Given the description of an element on the screen output the (x, y) to click on. 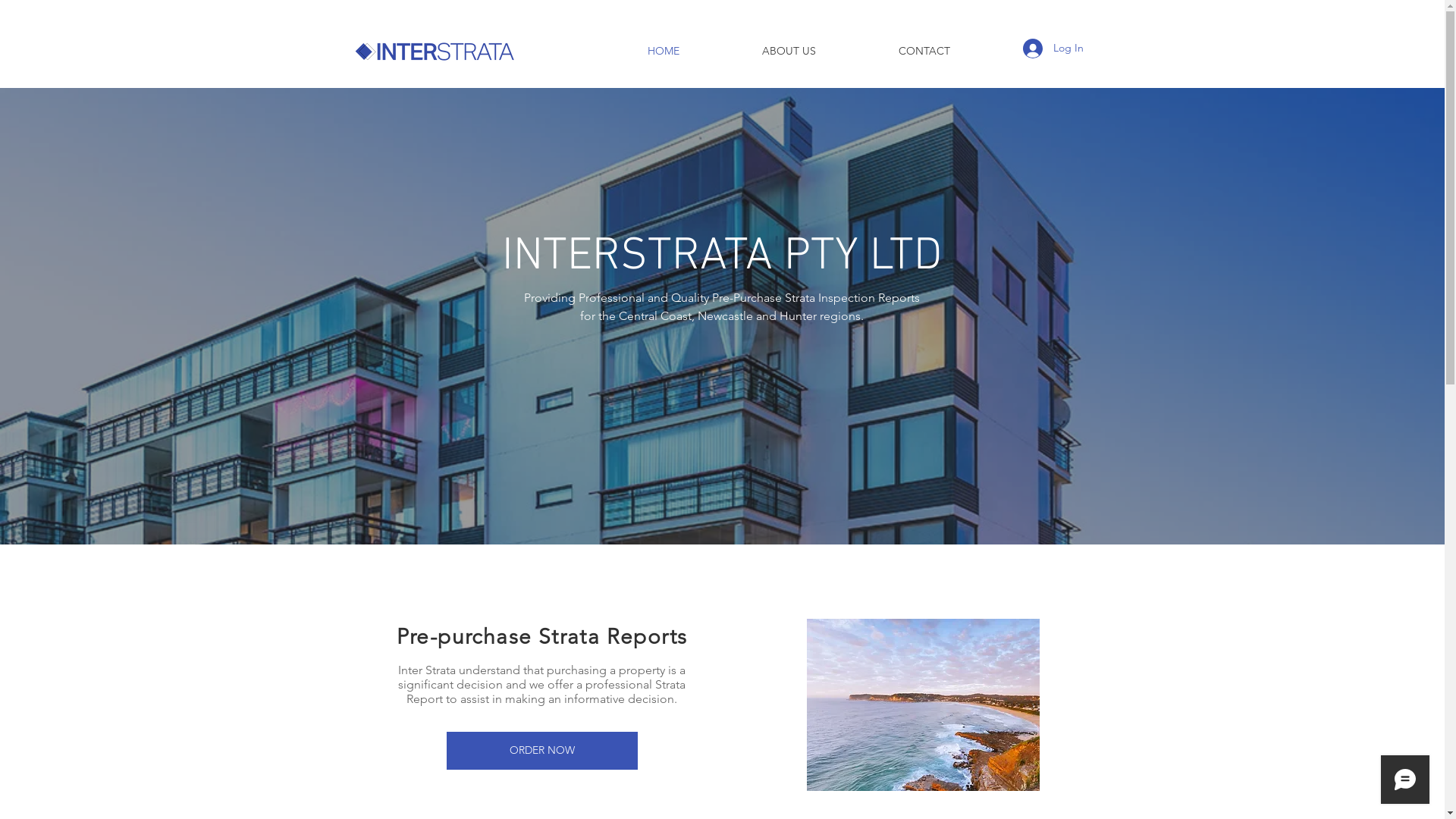
CONTACT Element type: text (923, 50)
ORDER NOW Element type: text (541, 750)
ABOUT US Element type: text (788, 50)
Log In Element type: text (1052, 48)
HOME Element type: text (663, 50)
